Given the description of an element on the screen output the (x, y) to click on. 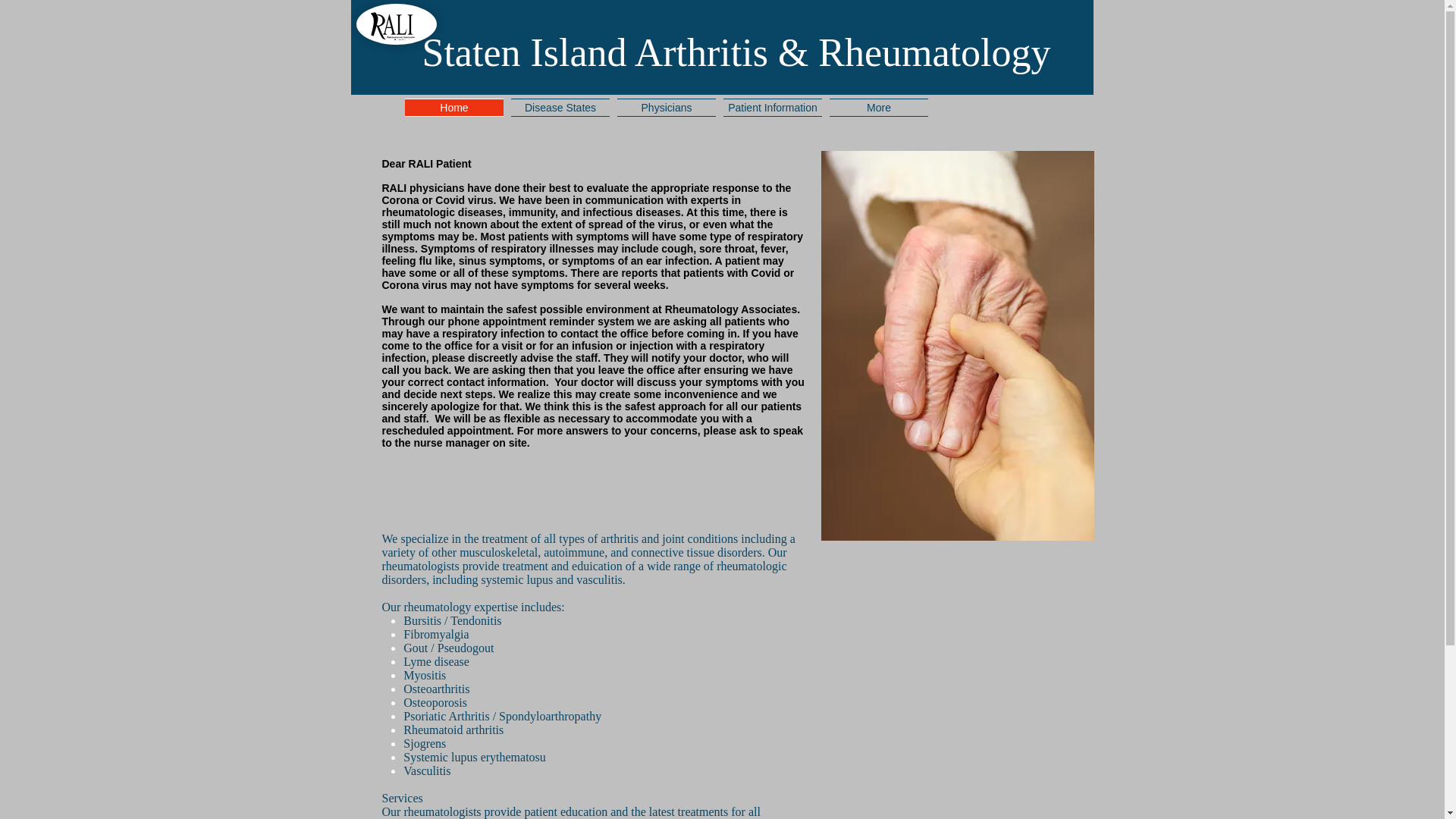
Systemic lupus erythematosu (474, 757)
Vasculitis (426, 770)
Myositis (424, 675)
Sjogrens (424, 743)
Disease States (559, 107)
Lyme disease (435, 661)
Fibromyalgia (435, 634)
Osteoarthritis (435, 688)
Rheumatoid arthritis (453, 729)
Osteoporosis (435, 702)
Patient Information (772, 107)
RHEUM SI.png (396, 24)
Physicians (665, 107)
Home (453, 107)
